Given the description of an element on the screen output the (x, y) to click on. 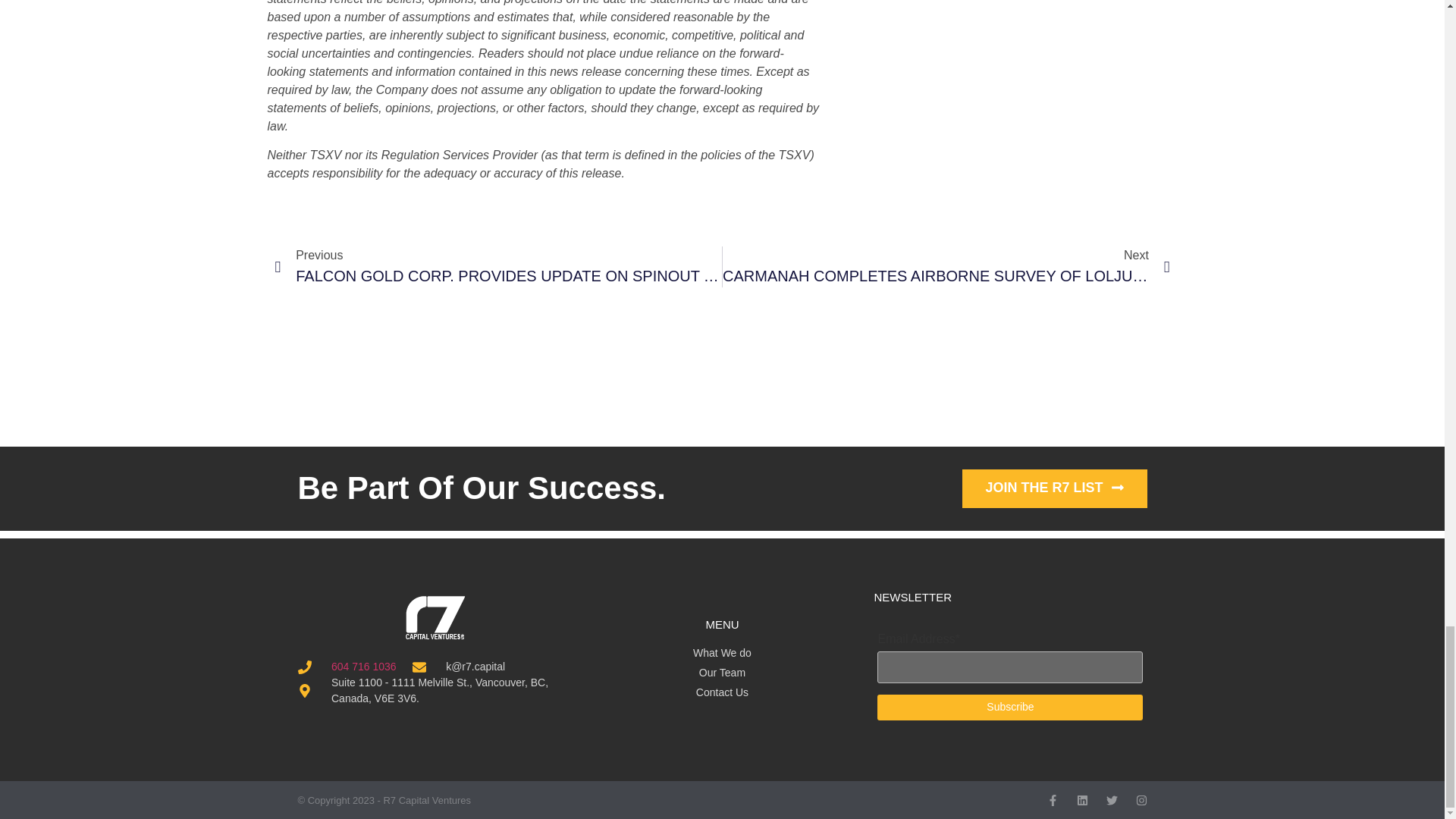
604 716 1036 (363, 666)
Our Team (722, 672)
JOIN THE R7 LIST (1054, 488)
What We do (722, 652)
Subscribe (1009, 707)
Subscribe (1009, 707)
Contact Us (722, 692)
